Given the description of an element on the screen output the (x, y) to click on. 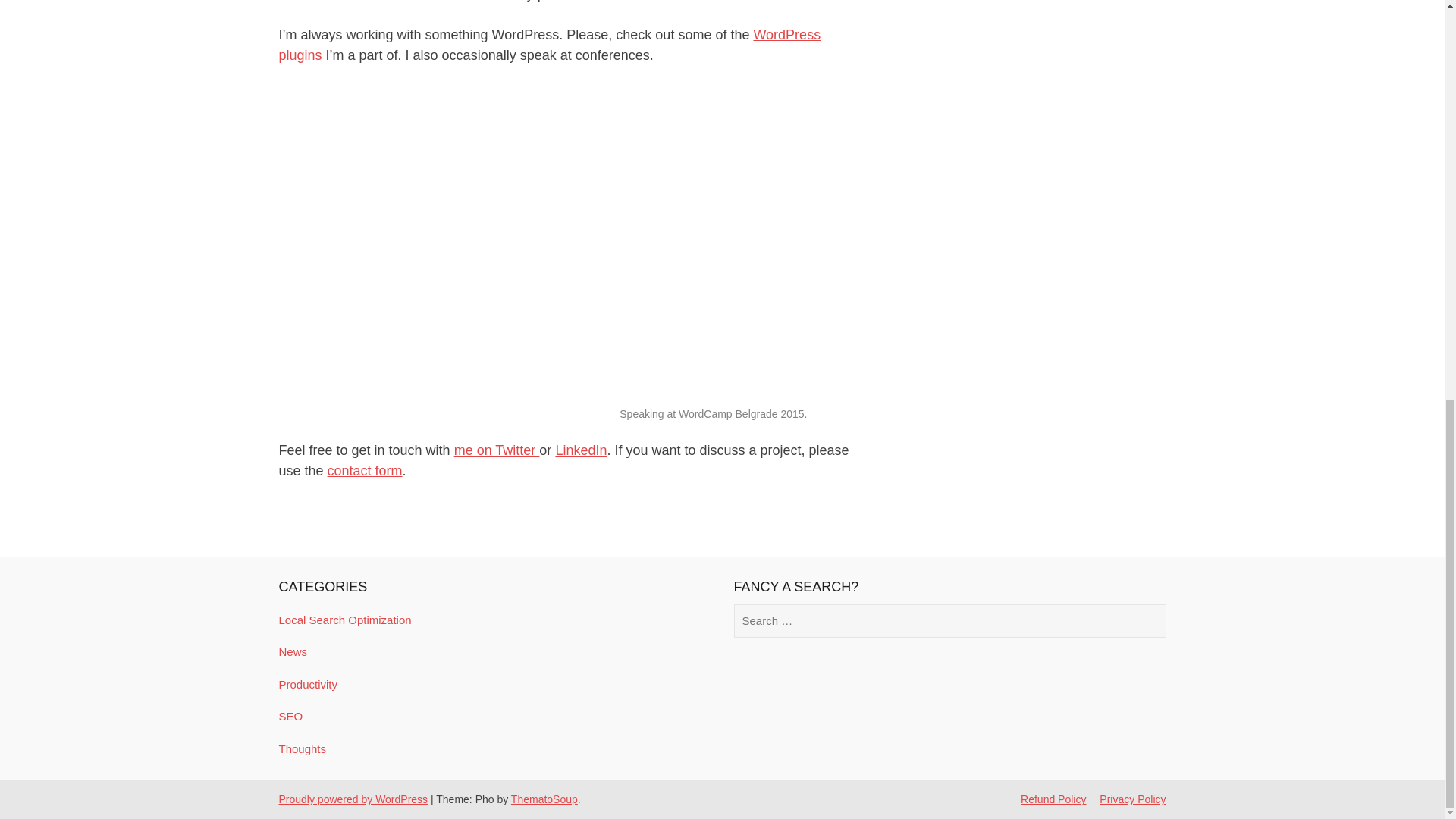
Dragan Nikolic on Twitter (497, 450)
ThematoSoup (544, 799)
contact form (365, 470)
WordPress plugins (550, 45)
me on Twitter (497, 450)
LinkedIn (580, 450)
Productivity (308, 684)
Contact (365, 470)
Refund Policy (1053, 799)
Thoughts (302, 748)
News (293, 651)
Privacy Policy (1132, 799)
Proudly powered by WordPress (353, 799)
SEO (290, 716)
Local Search Optimization (345, 619)
